Given the description of an element on the screen output the (x, y) to click on. 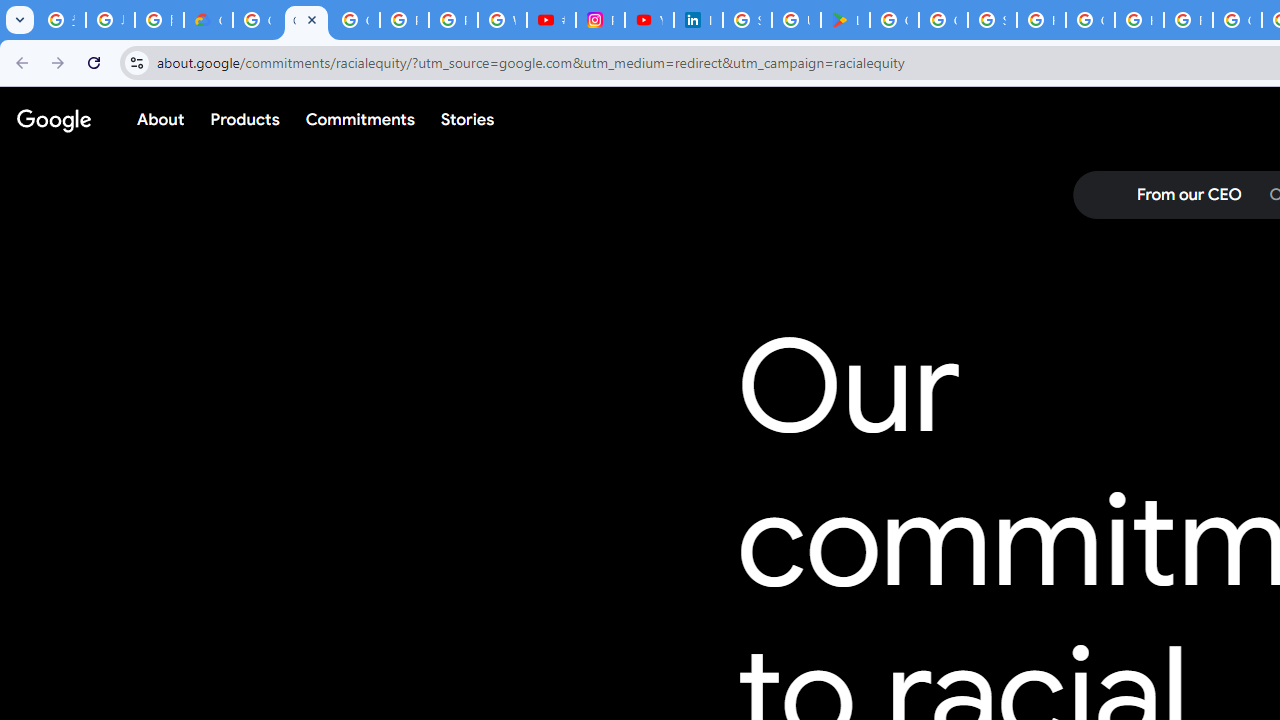
Commitments (359, 119)
How do I create a new Google Account? - Google Account Help (1138, 20)
Google Workspace - Specific Terms (943, 20)
From our CEO: Jump to page section (1188, 195)
#nbabasketballhighlights - YouTube (551, 20)
YouTube Culture & Trends - On The Rise: Handcam Videos (649, 20)
